Given the description of an element on the screen output the (x, y) to click on. 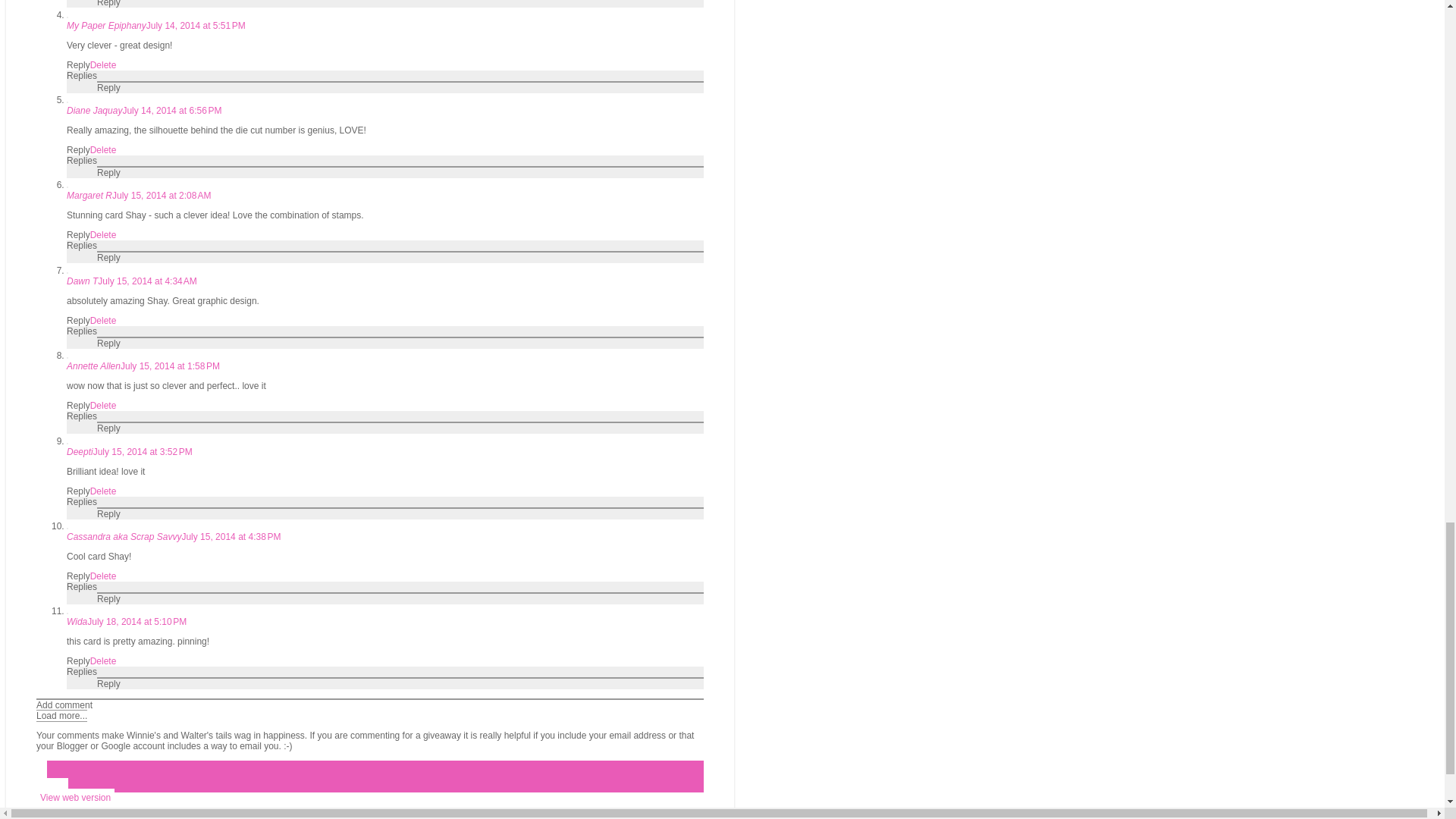
Reply (108, 3)
Replies (81, 75)
Reply (78, 149)
Delete (103, 64)
Reply (108, 87)
My Paper Epiphany (106, 25)
Diane Jaquay (94, 110)
Reply (78, 64)
